Given the description of an element on the screen output the (x, y) to click on. 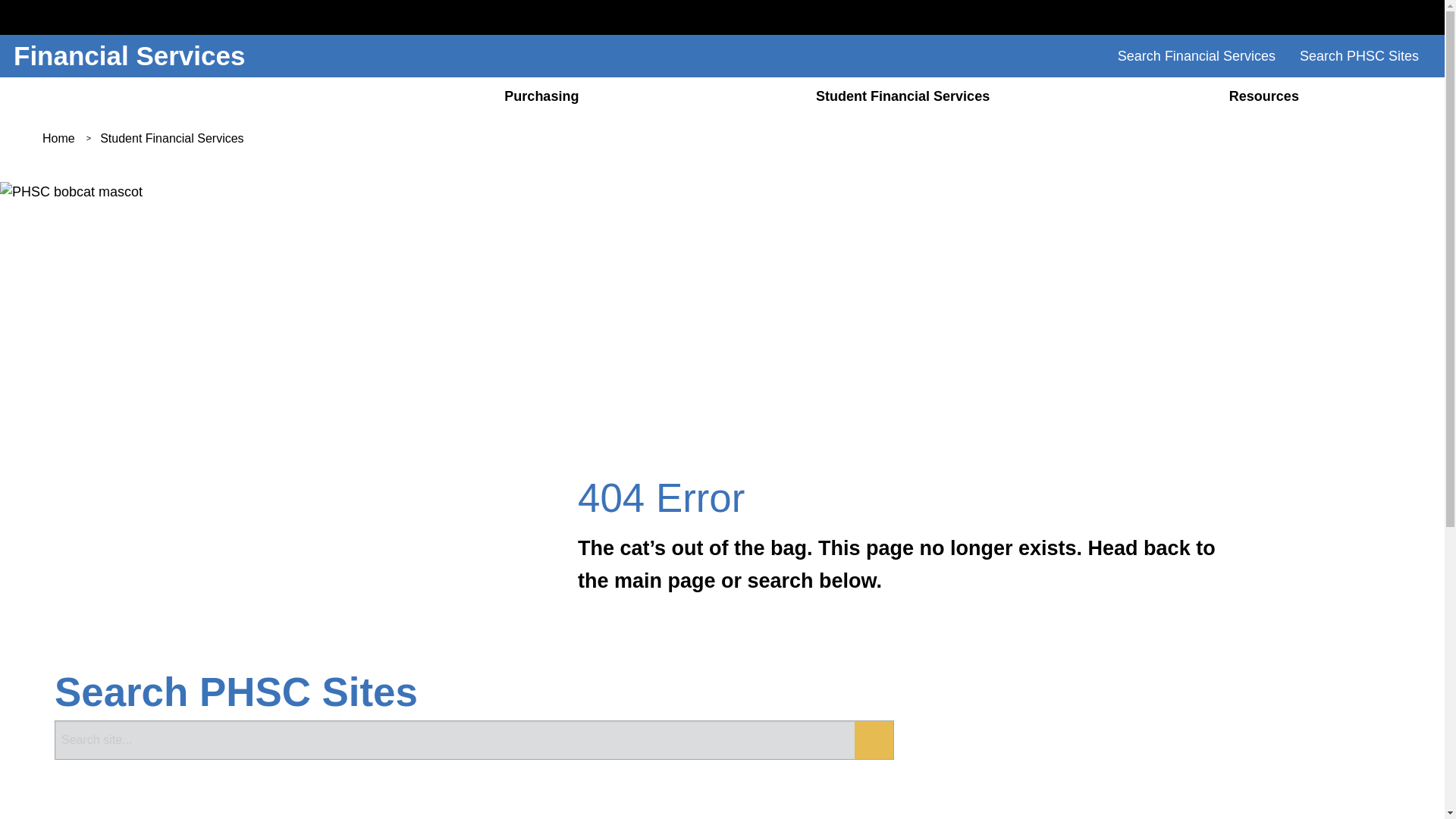
Purchasing (541, 95)
go (873, 740)
Home (58, 137)
Skip to main content (721, 4)
Search Financial Services (1196, 55)
Student Financial Services (902, 95)
go (873, 740)
Search PHSC Sites (1359, 55)
Student Financial Services (171, 137)
Home (180, 95)
